Given the description of an element on the screen output the (x, y) to click on. 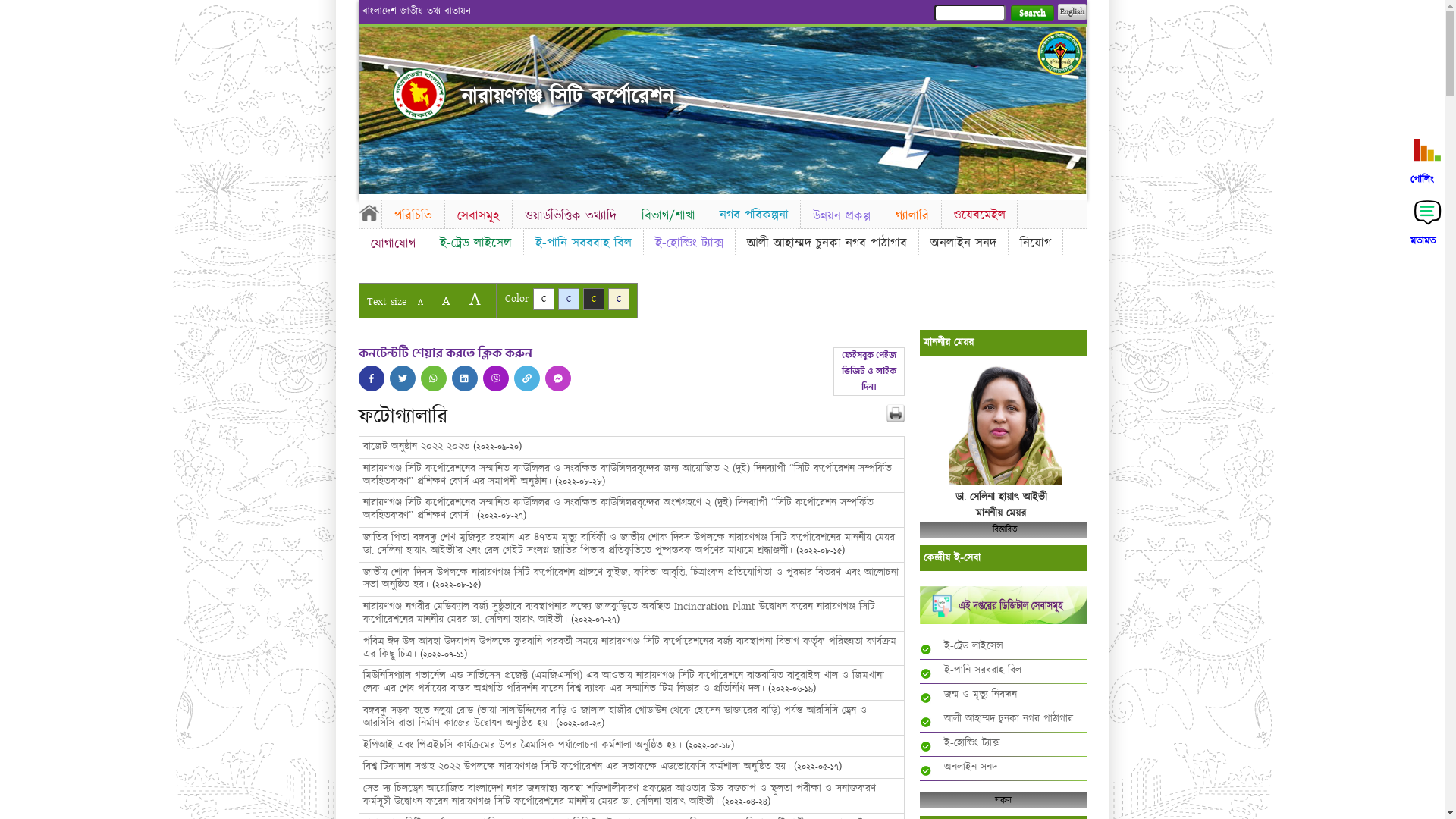
Home Element type: hover (368, 211)
English Element type: text (1071, 11)
C Element type: text (568, 299)
A Element type: text (445, 300)
C Element type: text (592, 299)
C Element type: text (618, 299)
C Element type: text (542, 299)
Search Element type: text (1031, 13)
Home Element type: hover (418, 93)
A Element type: text (419, 301)
A Element type: text (474, 298)
